Given the description of an element on the screen output the (x, y) to click on. 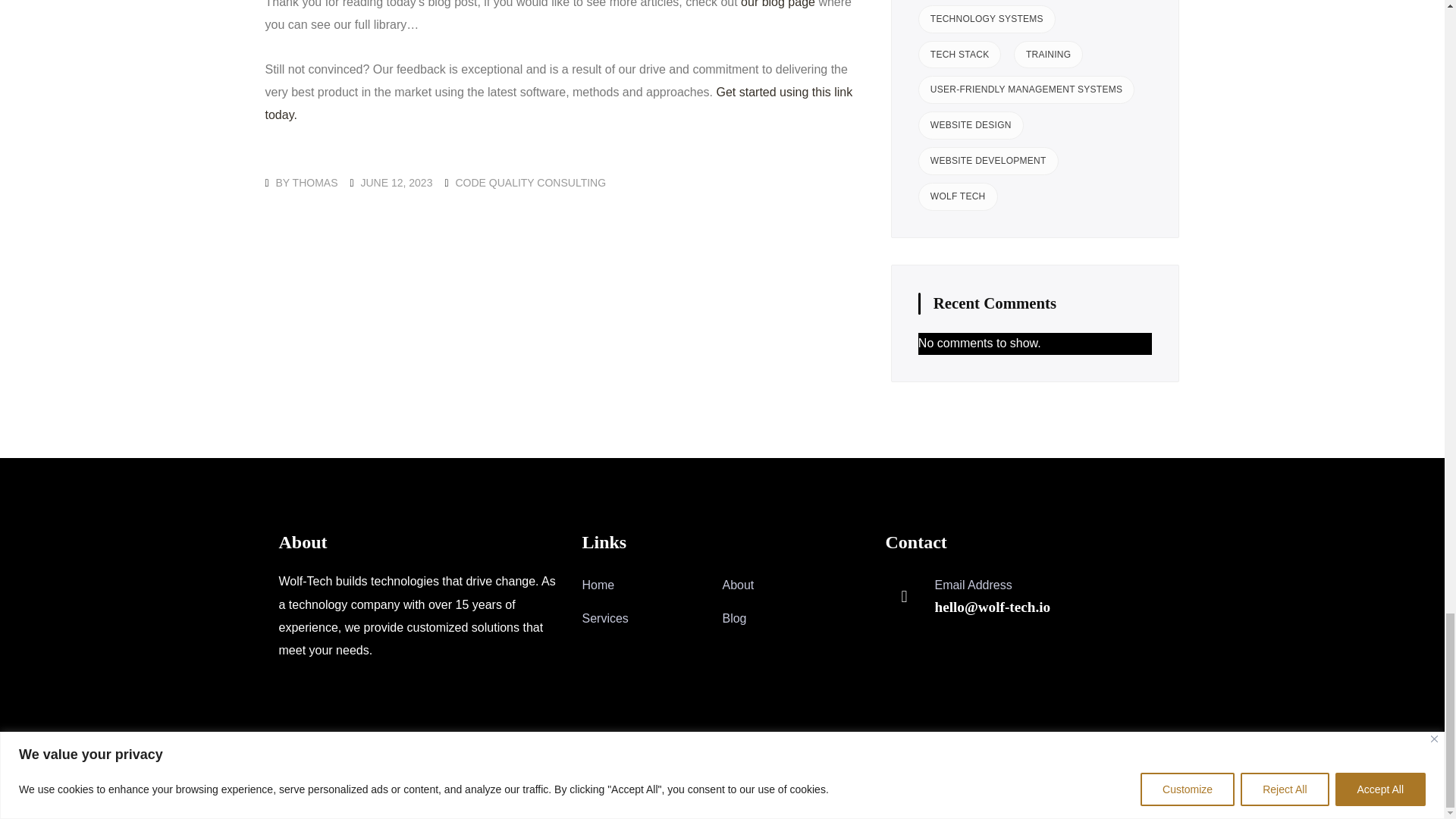
Get started using this link today. (558, 103)
JUNE 12, 2023 (395, 182)
our blog page (778, 4)
THOMAS (314, 182)
CODE QUALITY CONSULTING (529, 182)
